Given the description of an element on the screen output the (x, y) to click on. 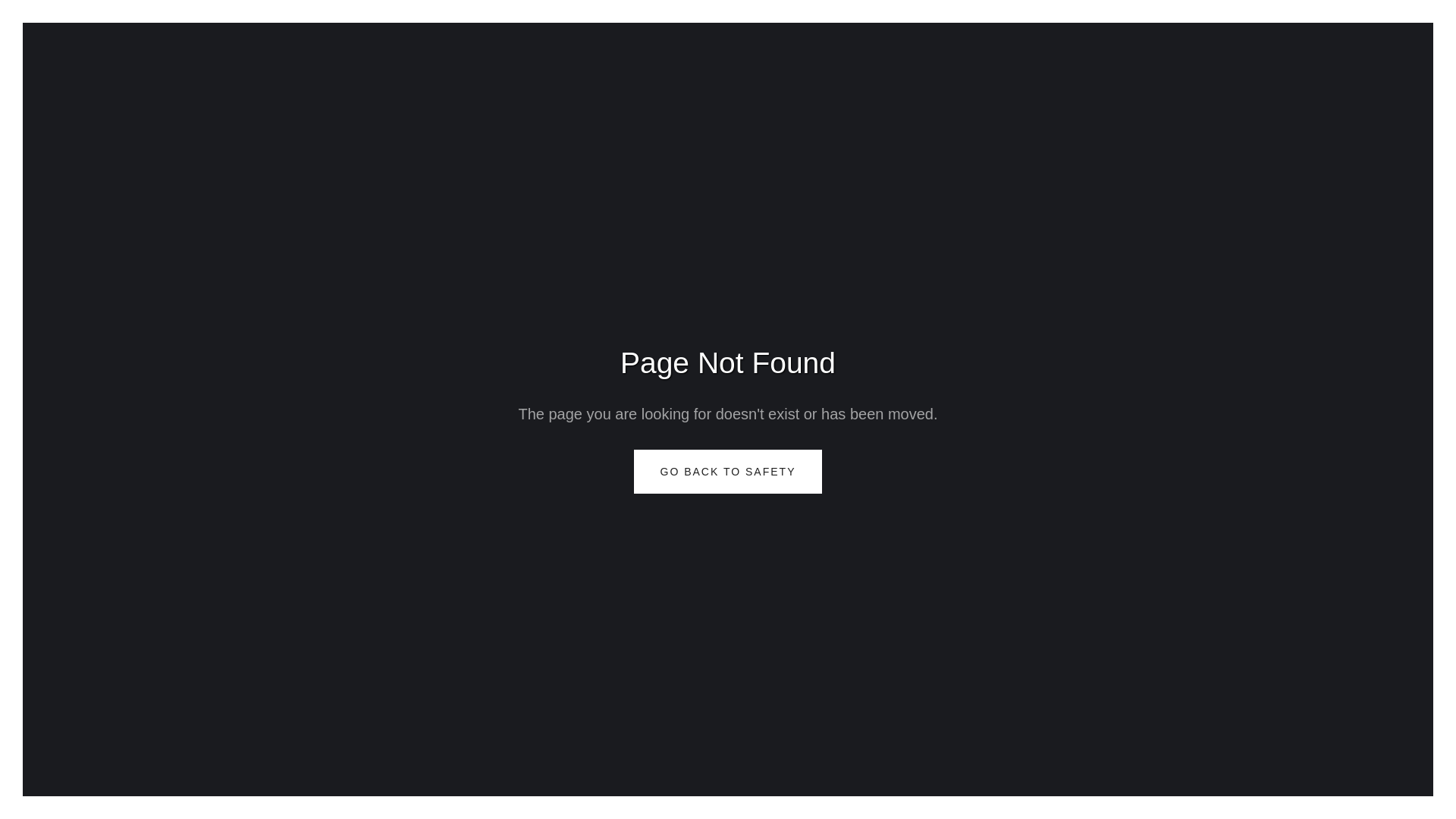
GO BACK TO SAFETY Element type: text (727, 471)
